Given the description of an element on the screen output the (x, y) to click on. 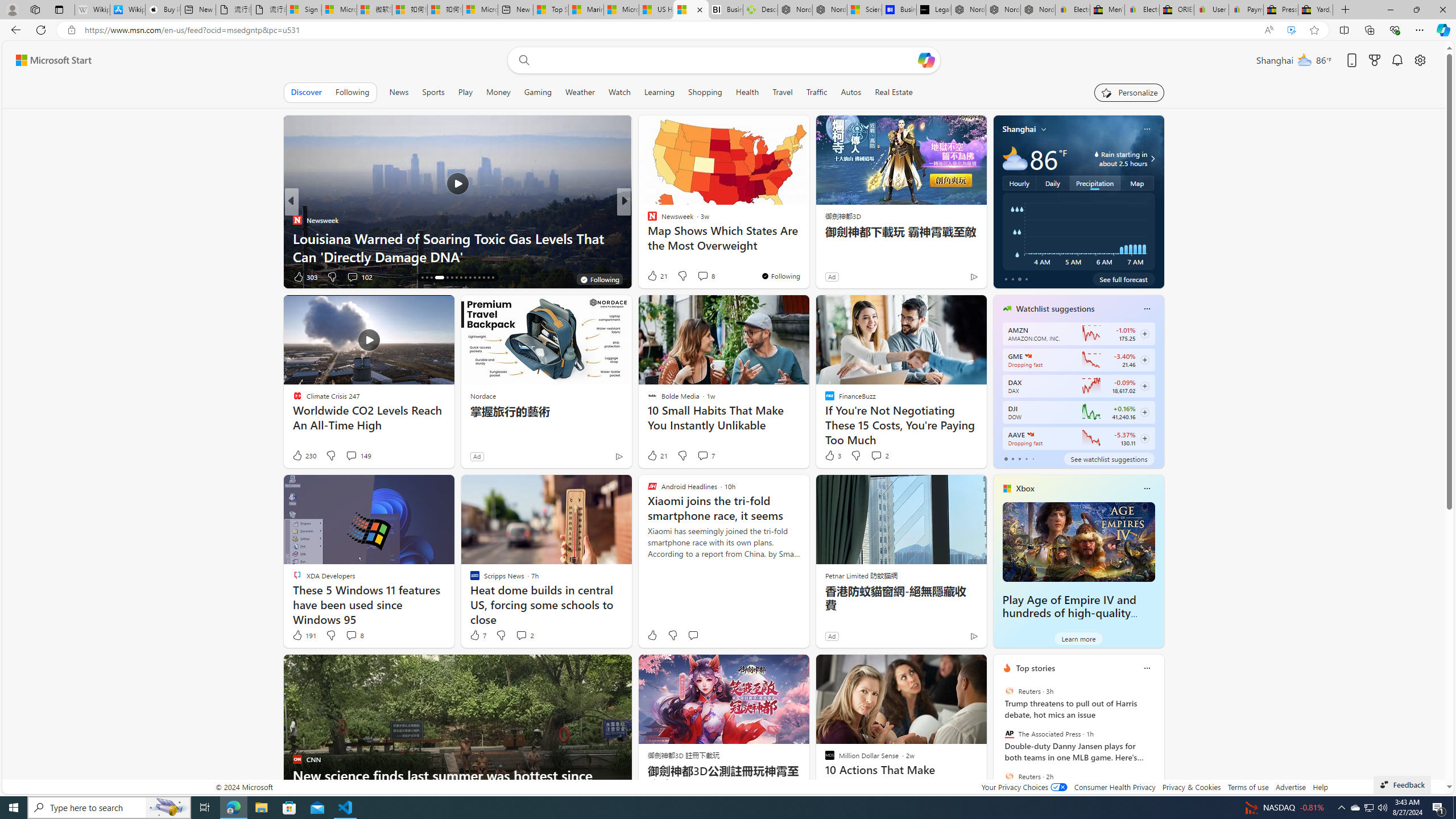
Your Privacy Choices (1024, 786)
